Given the description of an element on the screen output the (x, y) to click on. 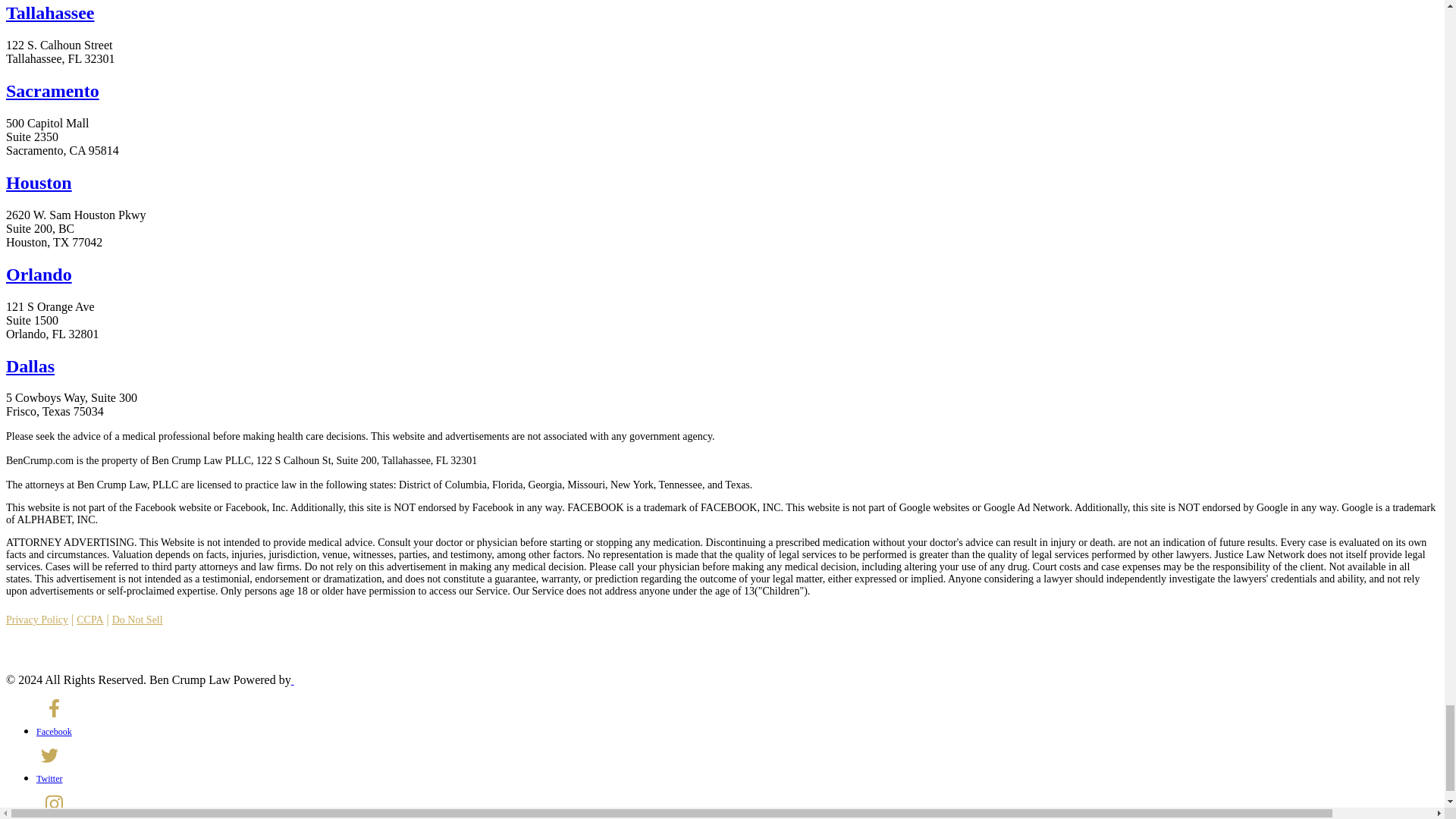
Brandlytics (342, 679)
